Given the description of an element on the screen output the (x, y) to click on. 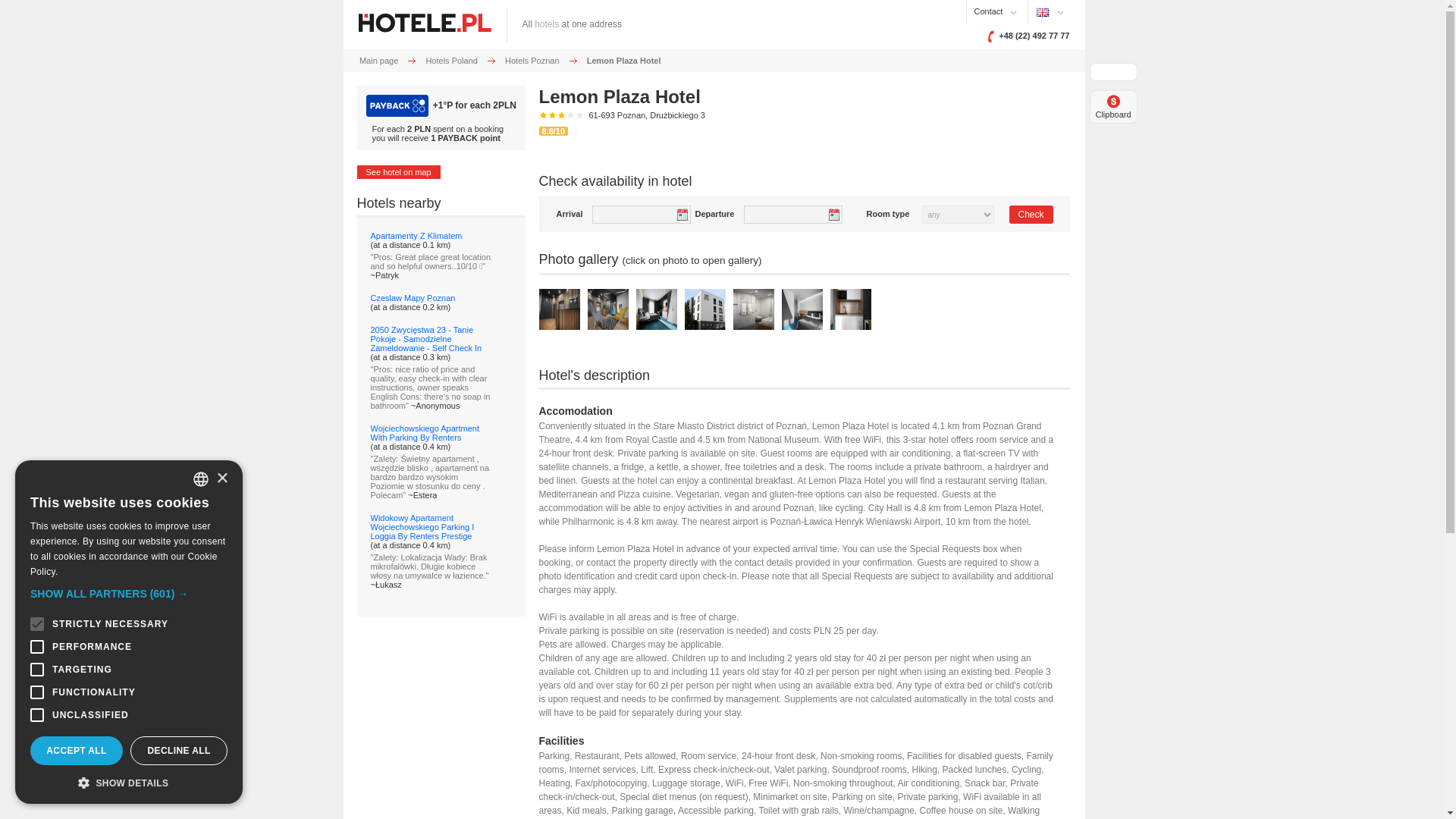
Apartamenty Z Klimatem (415, 235)
Contact (988, 10)
Czeslaw Mapy Poznan (411, 297)
Hotels Poznan (532, 60)
Hotels Poland (451, 60)
Main page (378, 60)
Wojciechowskiego Apartment With Parking By Renters (424, 433)
Check (1030, 214)
